Given the description of an element on the screen output the (x, y) to click on. 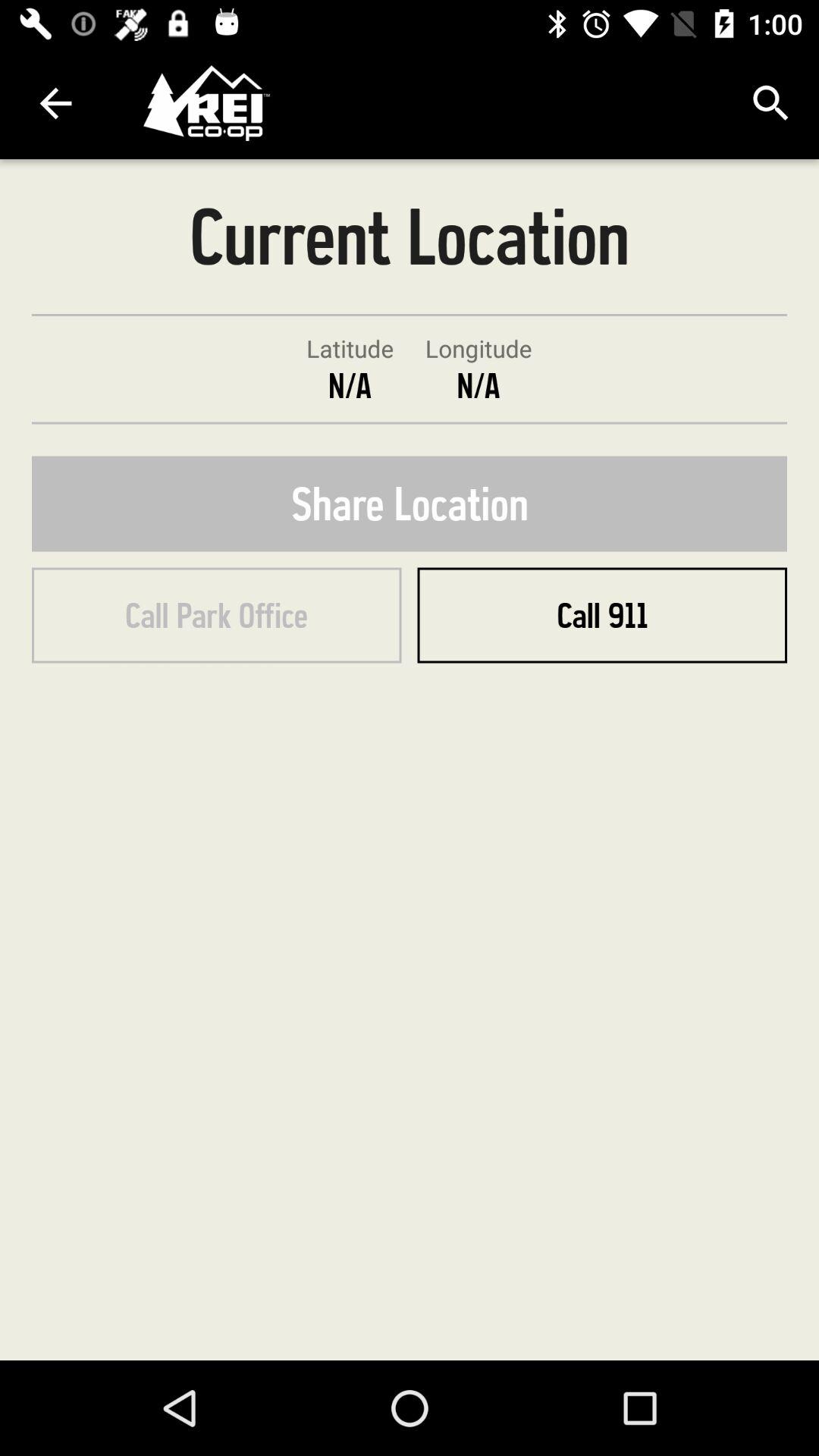
tap the call 911 icon (602, 615)
